Given the description of an element on the screen output the (x, y) to click on. 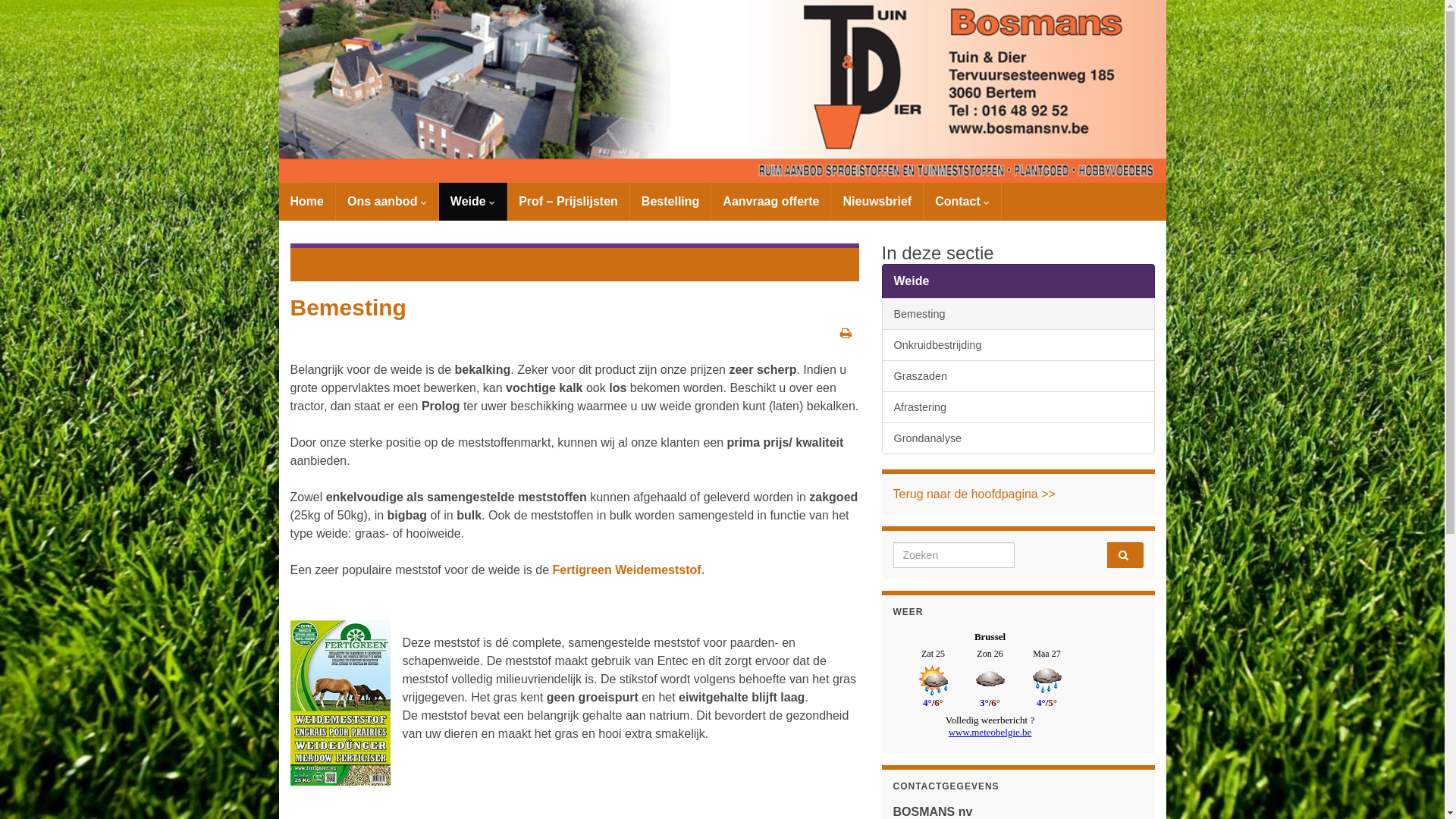
pagina afdrukken Element type: hover (845, 332)
Onkruidbestrijding Element type: text (1017, 344)
Afrastering Element type: text (1017, 407)
Bemesting Element type: text (1017, 313)
Ons aanbod Element type: text (386, 201)
Weide Element type: text (472, 201)
Graszaden Element type: text (1017, 376)
Bestelling Element type: text (670, 201)
Contact Element type: text (962, 201)
Weide Element type: text (1017, 280)
Home Element type: text (307, 201)
Weide Element type: text (385, 263)
Terug naar de hoofdpagina >> Element type: text (974, 493)
Grondanalyse Element type: text (1017, 438)
bosmansheadercon.png Element type: hover (722, 91)
Fertigreen Weidemeststof. Element type: text (628, 569)
Aanvraag offerte Element type: text (770, 201)
Nieuwsbrief Element type: text (876, 201)
